Given the description of an element on the screen output the (x, y) to click on. 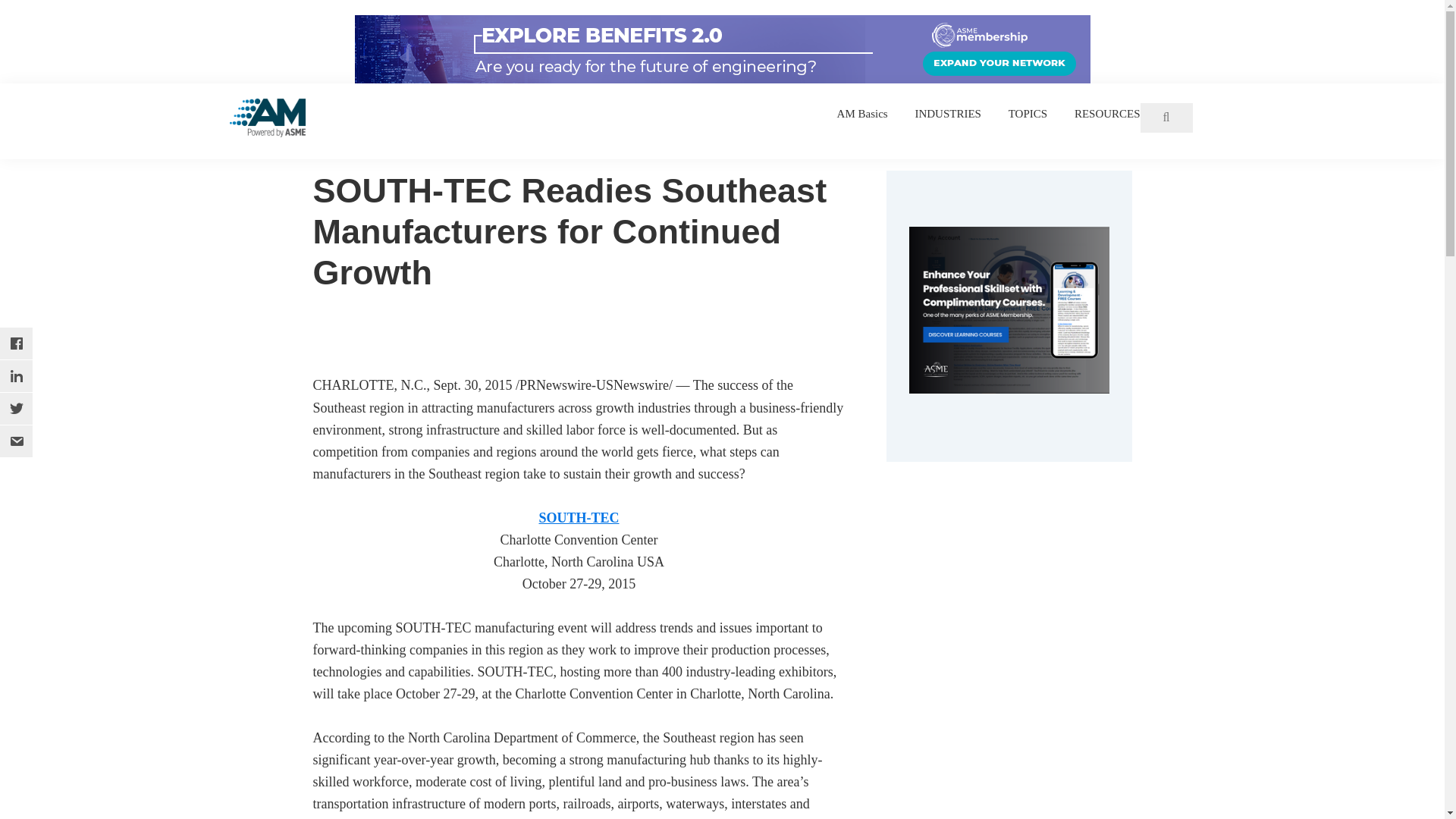
INDUSTRIES (947, 113)
TOPICS (1027, 113)
SOUTH-TEC (578, 516)
AM Basics (862, 113)
RESOURCES (1107, 113)
